Given the description of an element on the screen output the (x, y) to click on. 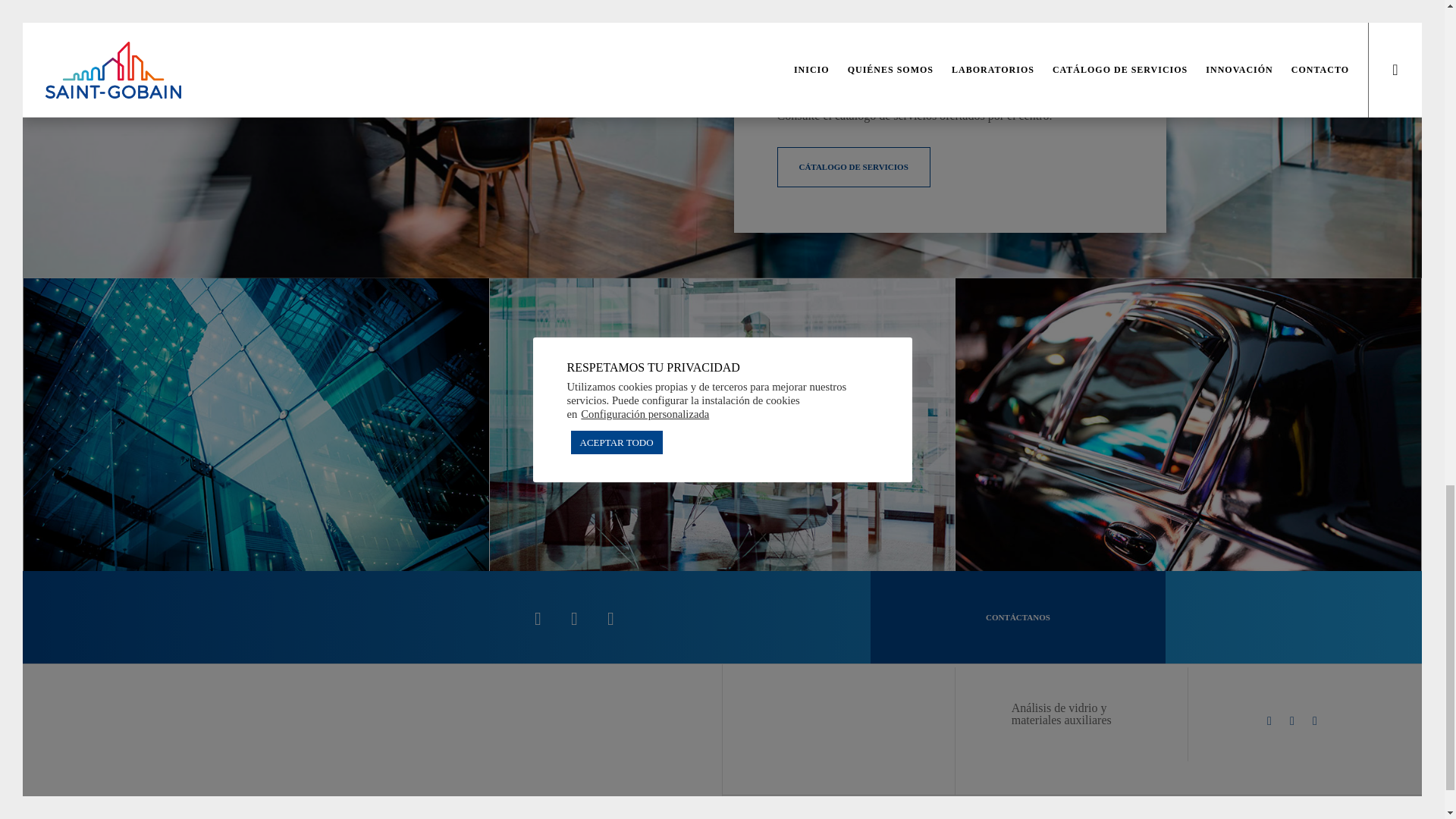
Contacto (853, 167)
Contacto (1018, 616)
